Given the description of an element on the screen output the (x, y) to click on. 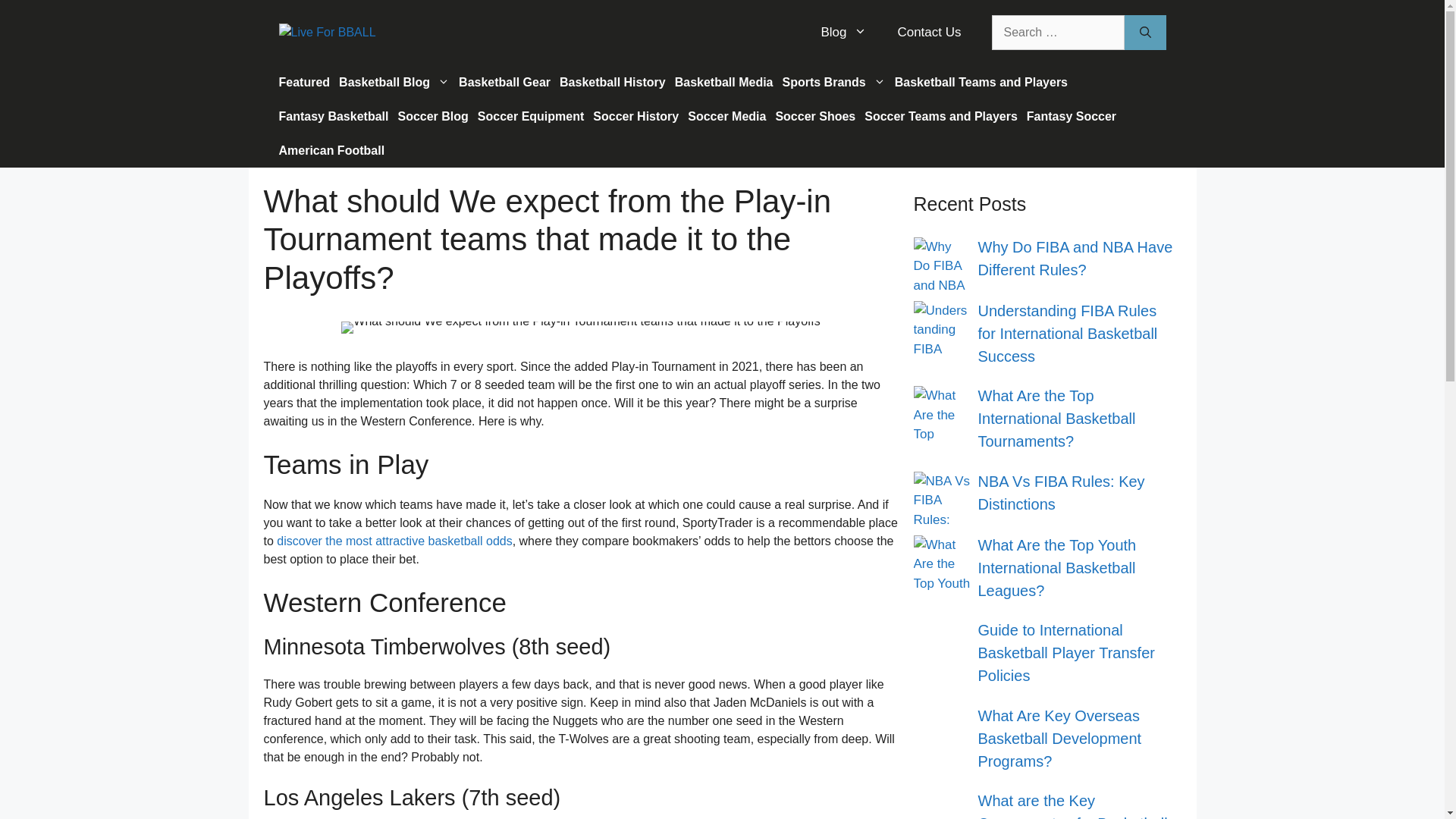
Basketball Teams and Players (980, 82)
Basketball History (611, 82)
Featured (304, 82)
Basketball Gear (504, 82)
Basketball Media (723, 82)
Fantasy Basketball (334, 116)
Sports Brands (833, 82)
Basketball Blog (394, 82)
Blog (843, 32)
Search for: (1057, 32)
Contact Us (928, 32)
Soccer Equipment (530, 116)
Soccer Blog (432, 116)
